Given the description of an element on the screen output the (x, y) to click on. 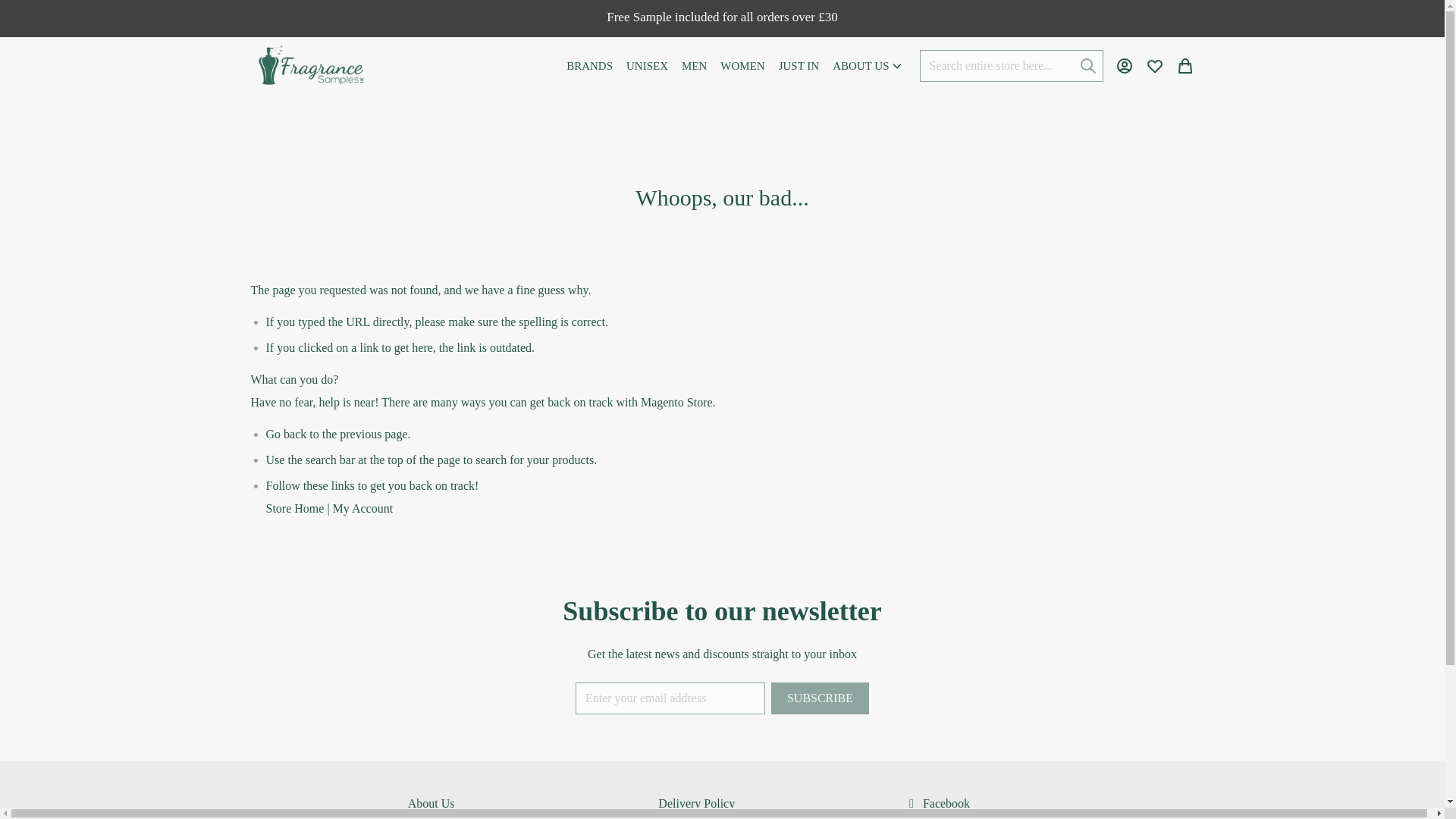
Search (1087, 65)
Go back (284, 433)
About Us (430, 802)
BRANDS (588, 65)
JUST IN (798, 65)
My Cart (1183, 65)
Delivery Policy (696, 802)
Store Home (293, 508)
My Account (363, 508)
WOMEN (742, 65)
